Given the description of an element on the screen output the (x, y) to click on. 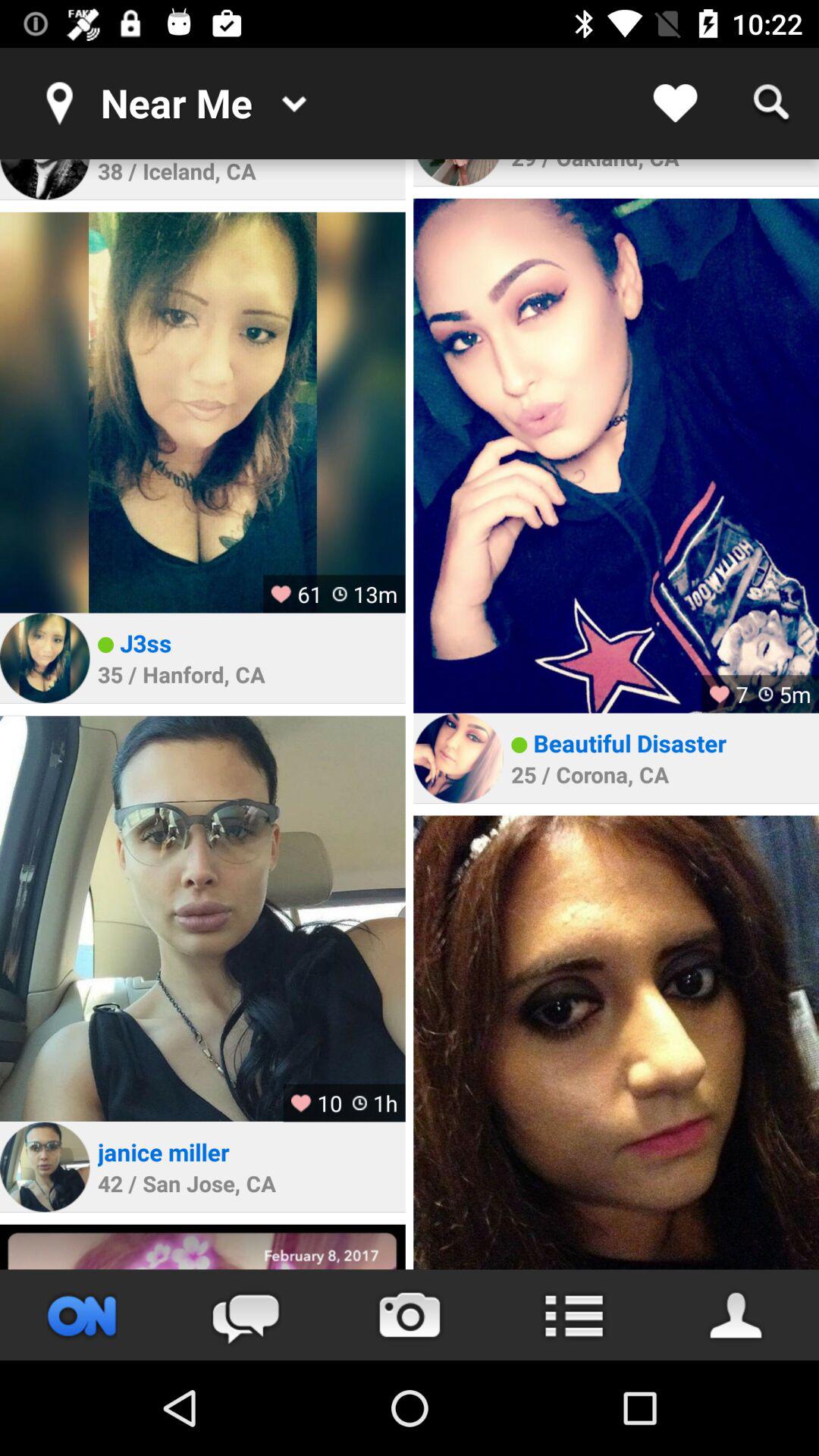
look for more information (573, 1315)
